Given the description of an element on the screen output the (x, y) to click on. 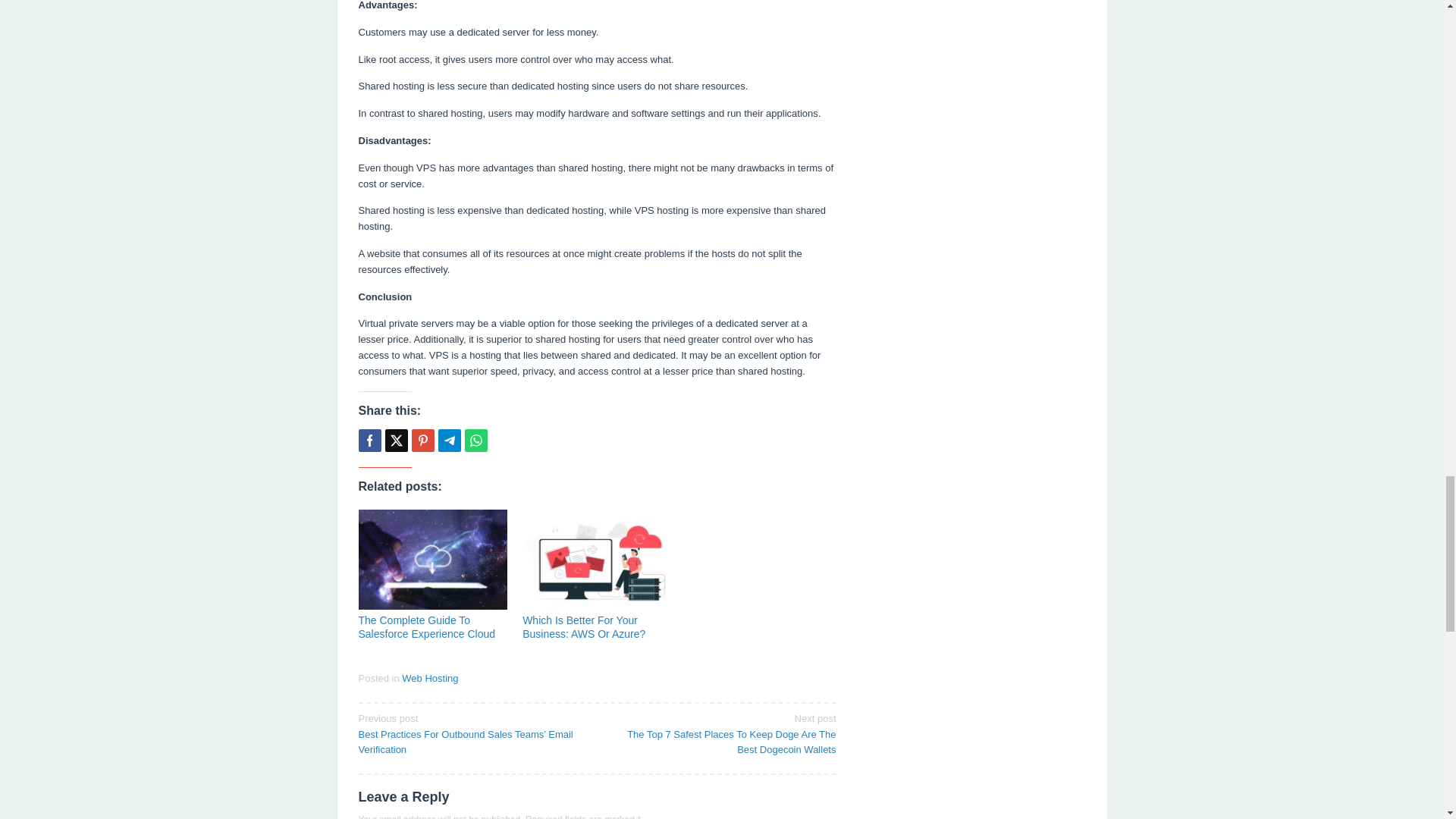
Share this (369, 440)
Web Hosting (429, 677)
Pin this (421, 440)
The Complete Guide To Salesforce Experience Cloud (426, 626)
Tweet this (396, 440)
Telegram Share (449, 440)
Whatsapp (475, 440)
Which Is Better For Your Business: AWS Or Azure? (583, 626)
